Given the description of an element on the screen output the (x, y) to click on. 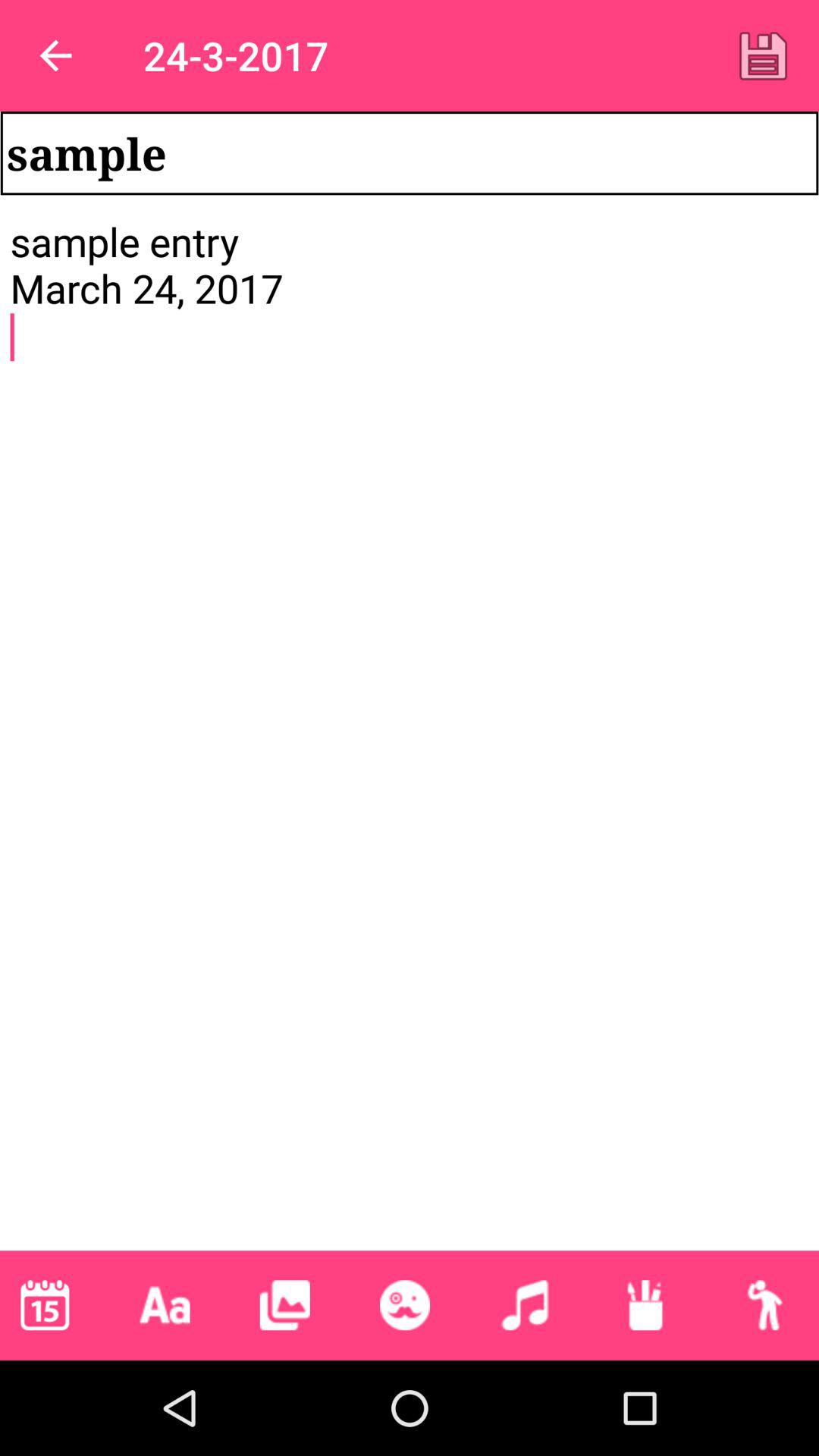
change the font (164, 1305)
